Given the description of an element on the screen output the (x, y) to click on. 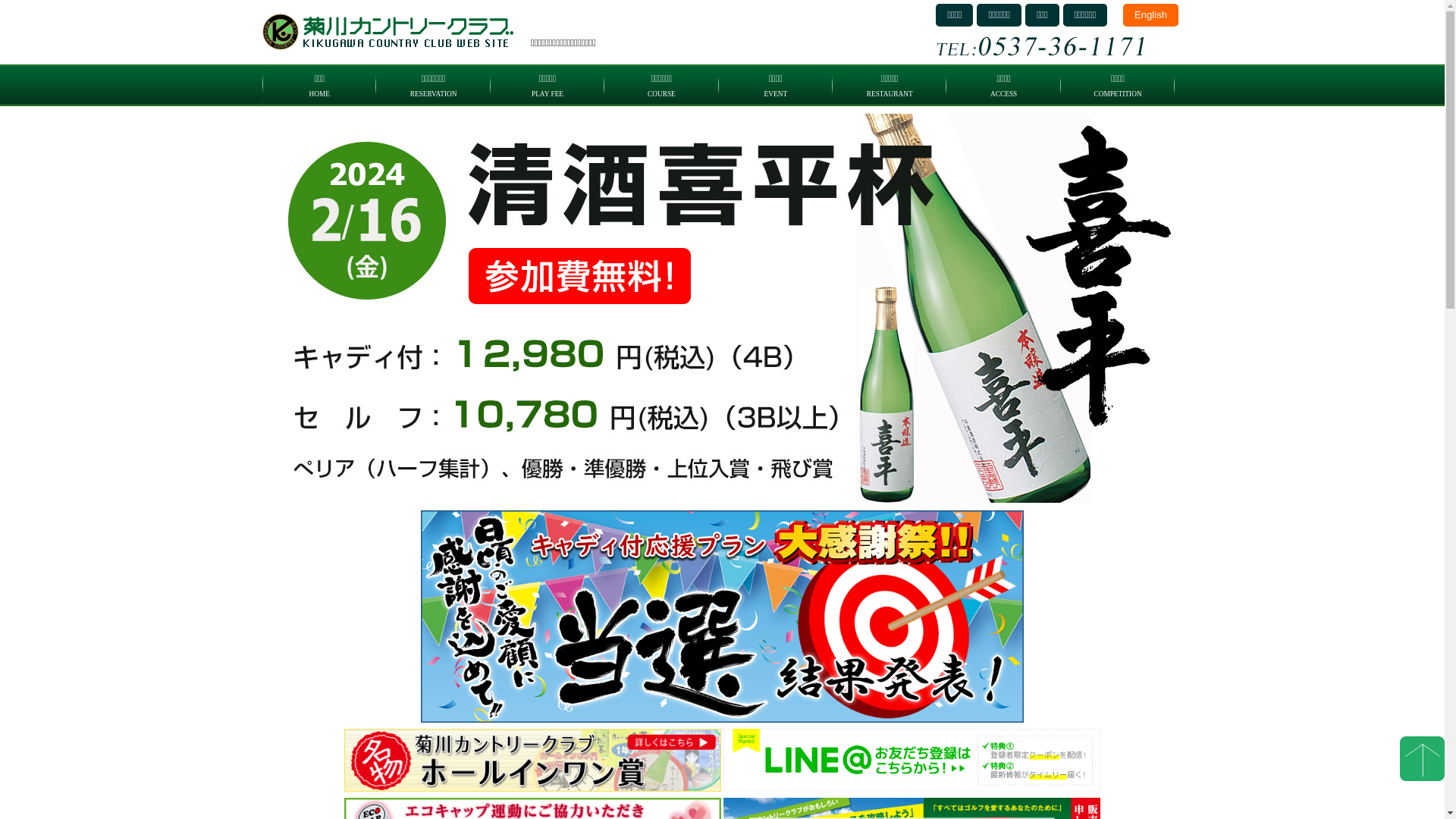
English Element type: text (1150, 14)
